Given the description of an element on the screen output the (x, y) to click on. 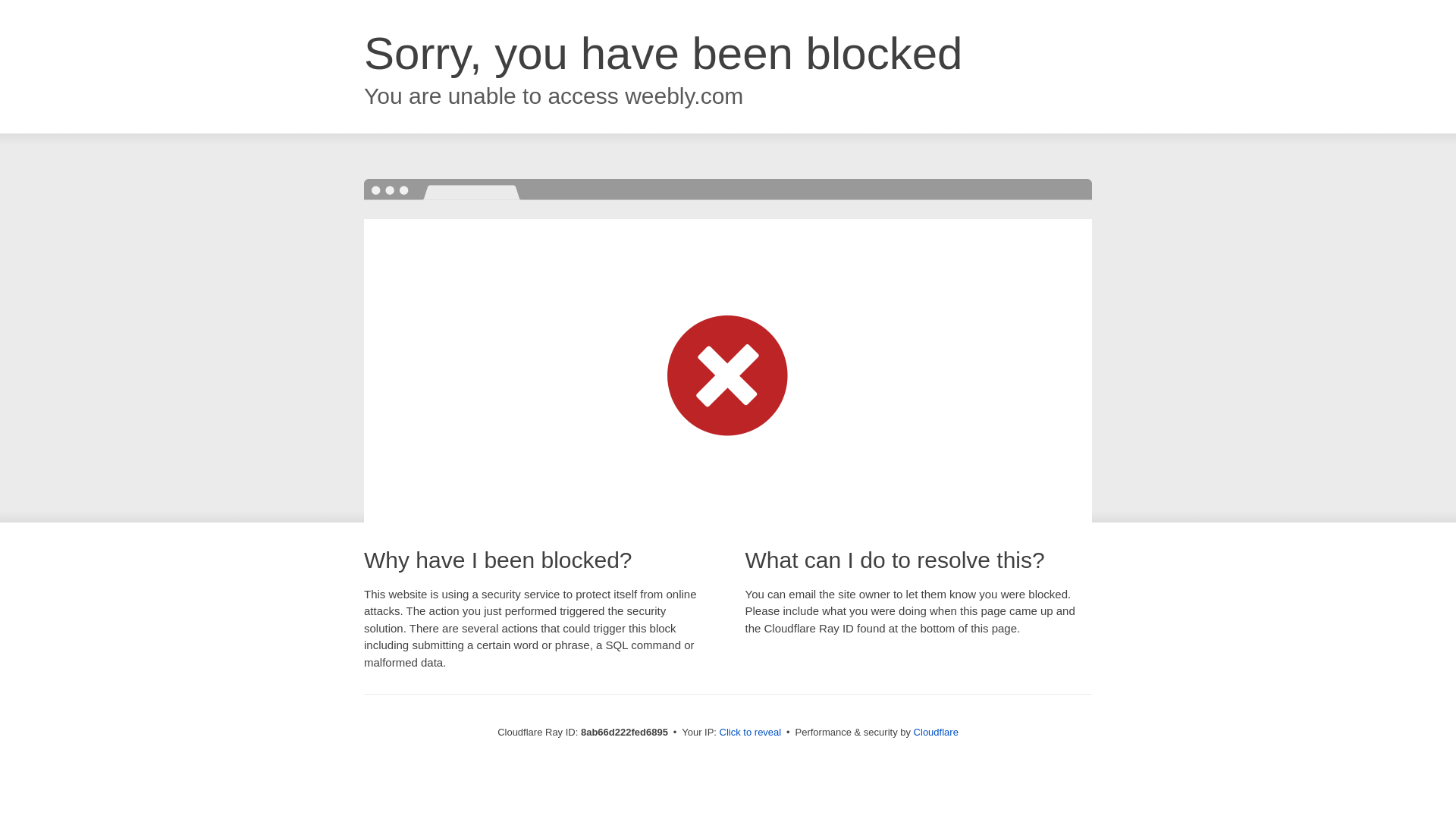
Cloudflare (936, 731)
Click to reveal (750, 732)
